Given the description of an element on the screen output the (x, y) to click on. 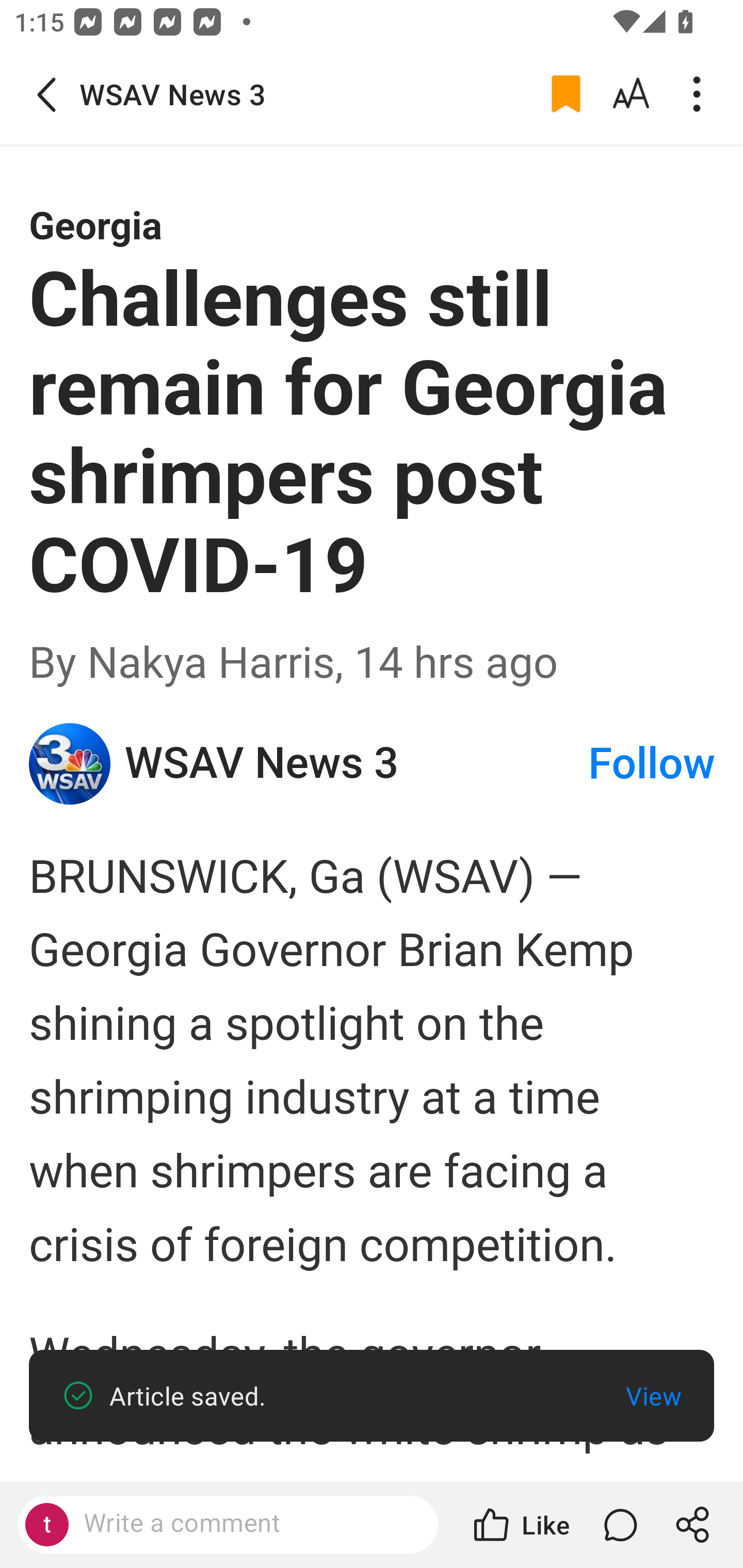
WSAV (70, 763)
WSAV News 3 (355, 763)
Follow (651, 763)
View (653, 1395)
Like (519, 1524)
Write a comment (227, 1524)
Write a comment (245, 1523)
